Given the description of an element on the screen output the (x, y) to click on. 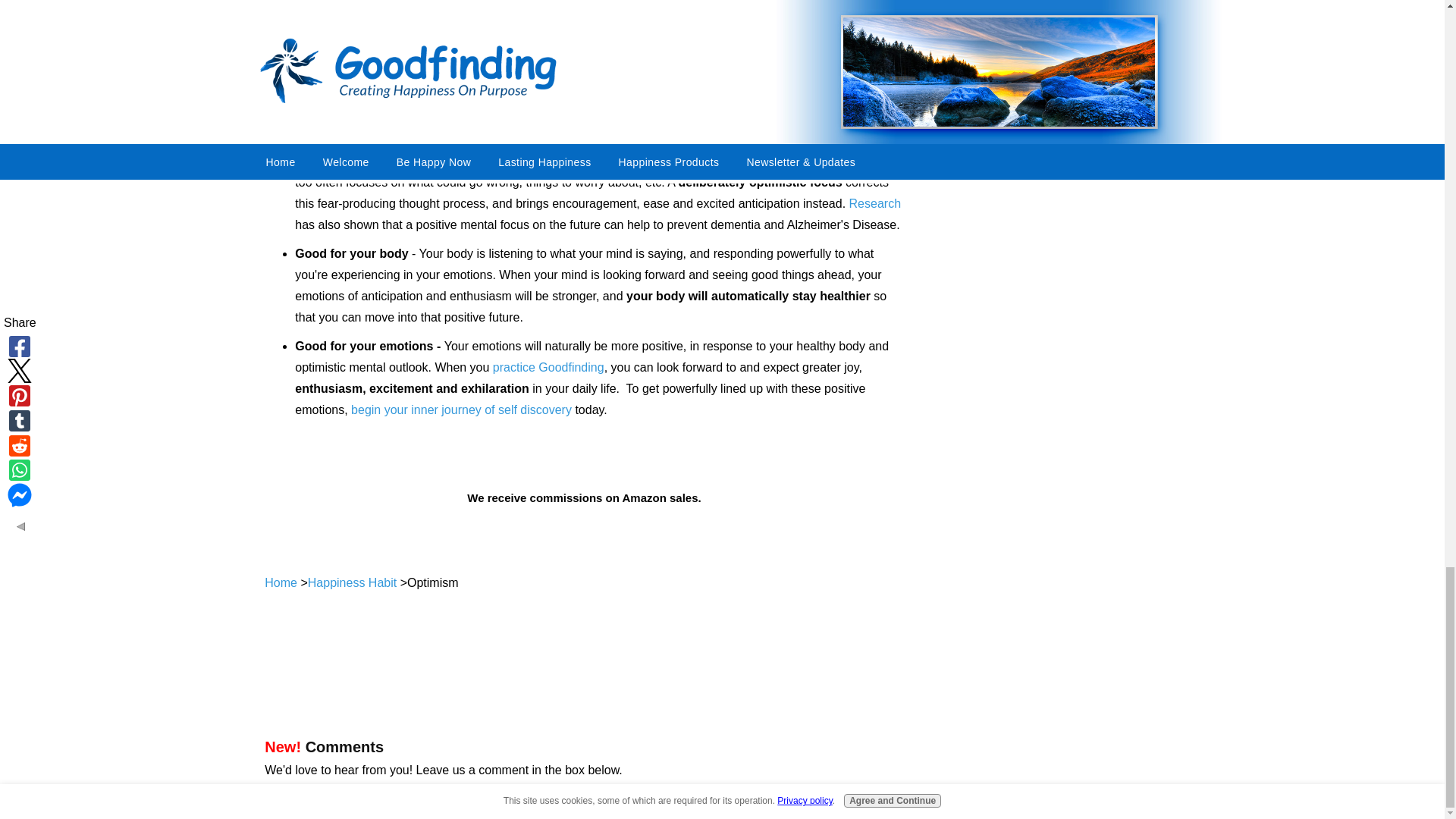
Happiness Habit (351, 582)
practice Goodfinding (548, 367)
Research (874, 203)
begin your inner journey of self discovery (461, 409)
Home (280, 582)
